Given the description of an element on the screen output the (x, y) to click on. 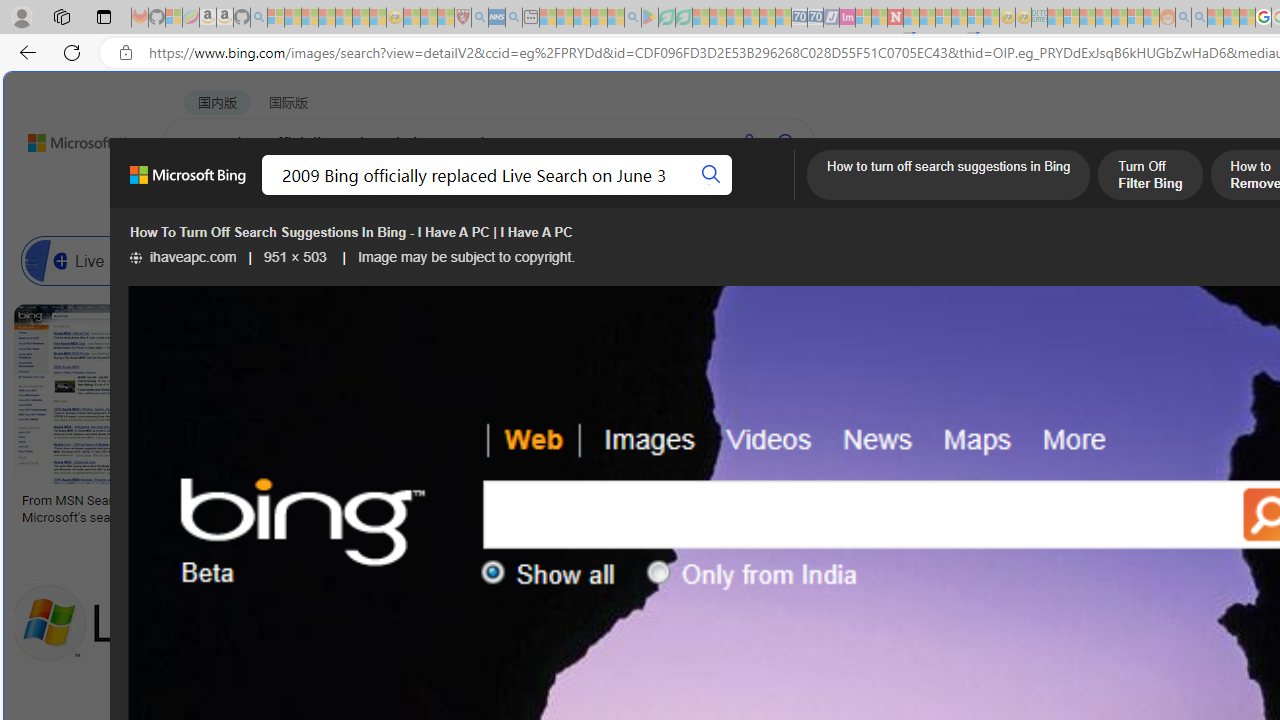
Microsoft-Report a Concern to Bing - Sleeping (173, 17)
utah sues federal government - Search - Sleeping (513, 17)
How to turn off search suggestions in Bing (948, 177)
Terms of Use Agreement - Sleeping (666, 17)
VIDEOS (545, 195)
Bing Best Search Engine (1115, 260)
MORE (793, 195)
Bing Logo and symbol, meaning, history, PNG, brandSave (422, 417)
Jobs - lastminute.com Investor Portal - Sleeping (847, 17)
